Given the description of an element on the screen output the (x, y) to click on. 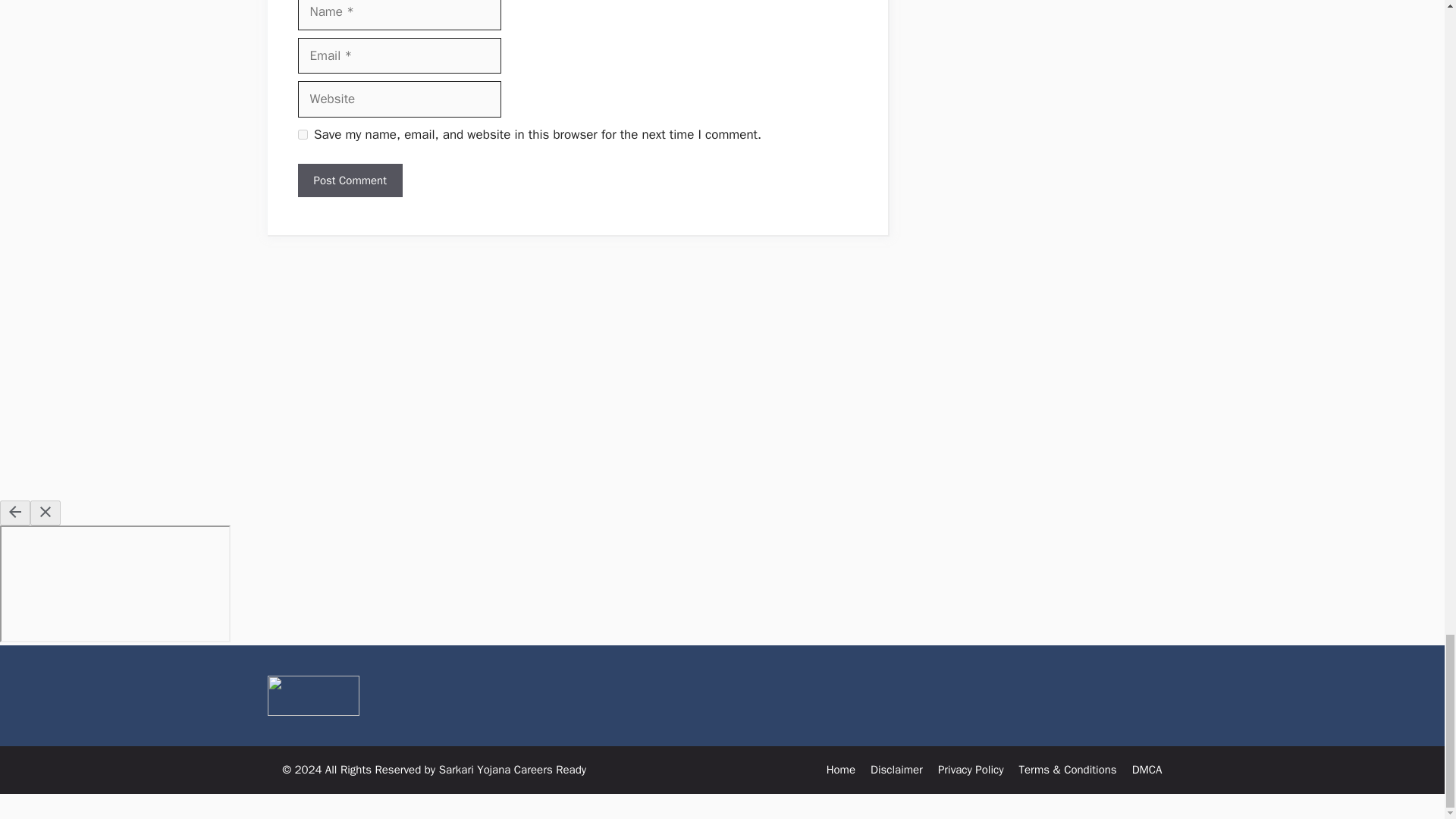
Privacy Policy (970, 769)
Post Comment (349, 180)
Disclaimer (896, 769)
Home (841, 769)
yes (302, 134)
DMCA (1146, 769)
Post Comment (349, 180)
